Given the description of an element on the screen output the (x, y) to click on. 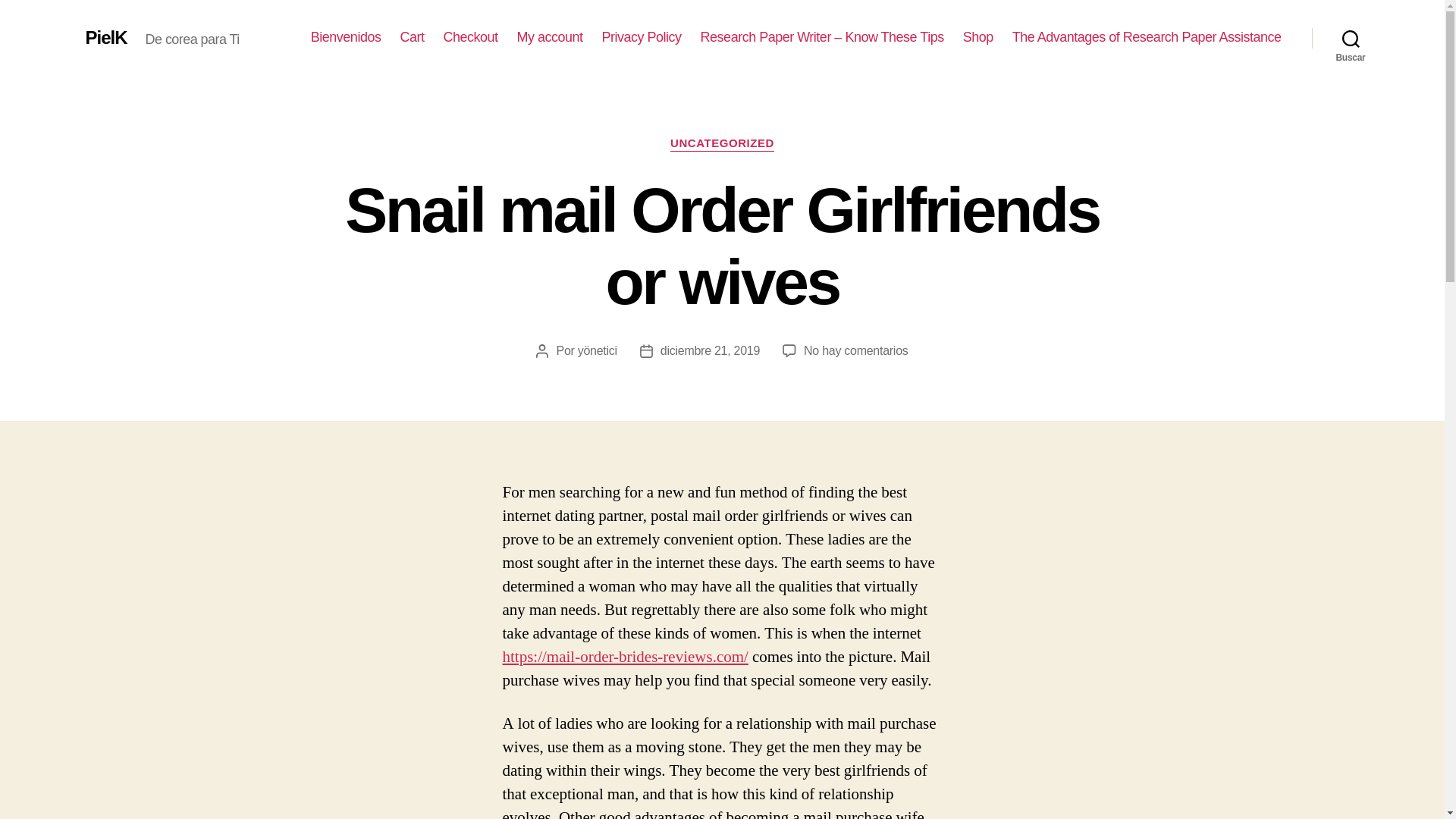
diciembre 21, 2019 (710, 350)
My account (855, 350)
Shop (549, 37)
Buscar (977, 37)
UNCATEGORIZED (1350, 37)
Privacy Policy (721, 143)
Checkout (641, 37)
The Advantages of Research Paper Assistance (469, 37)
Cart (1146, 37)
